Given the description of an element on the screen output the (x, y) to click on. 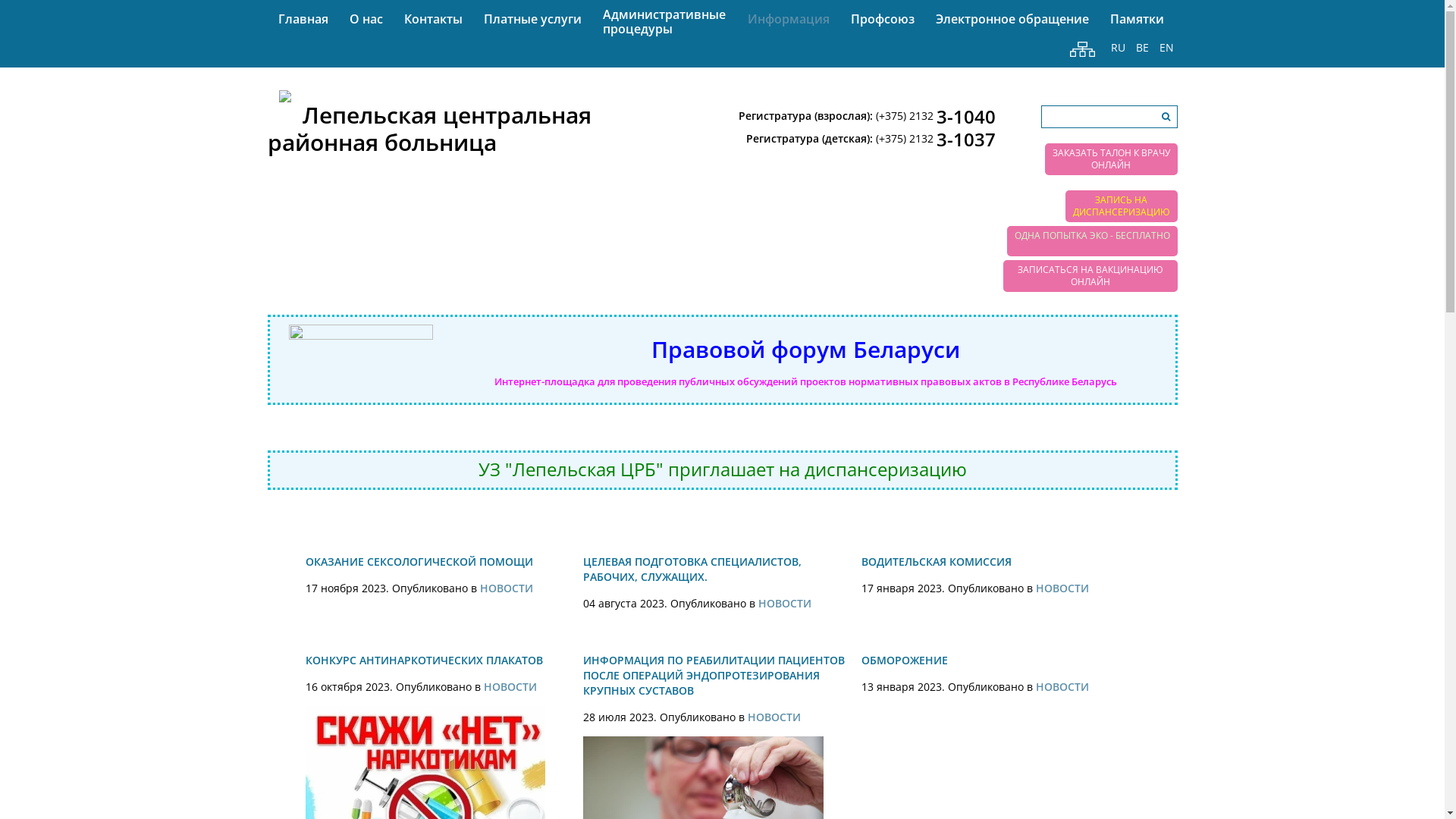
RU Element type: text (1118, 47)
BE Element type: text (1141, 47)
EN Element type: text (1166, 47)
